Given the description of an element on the screen output the (x, y) to click on. 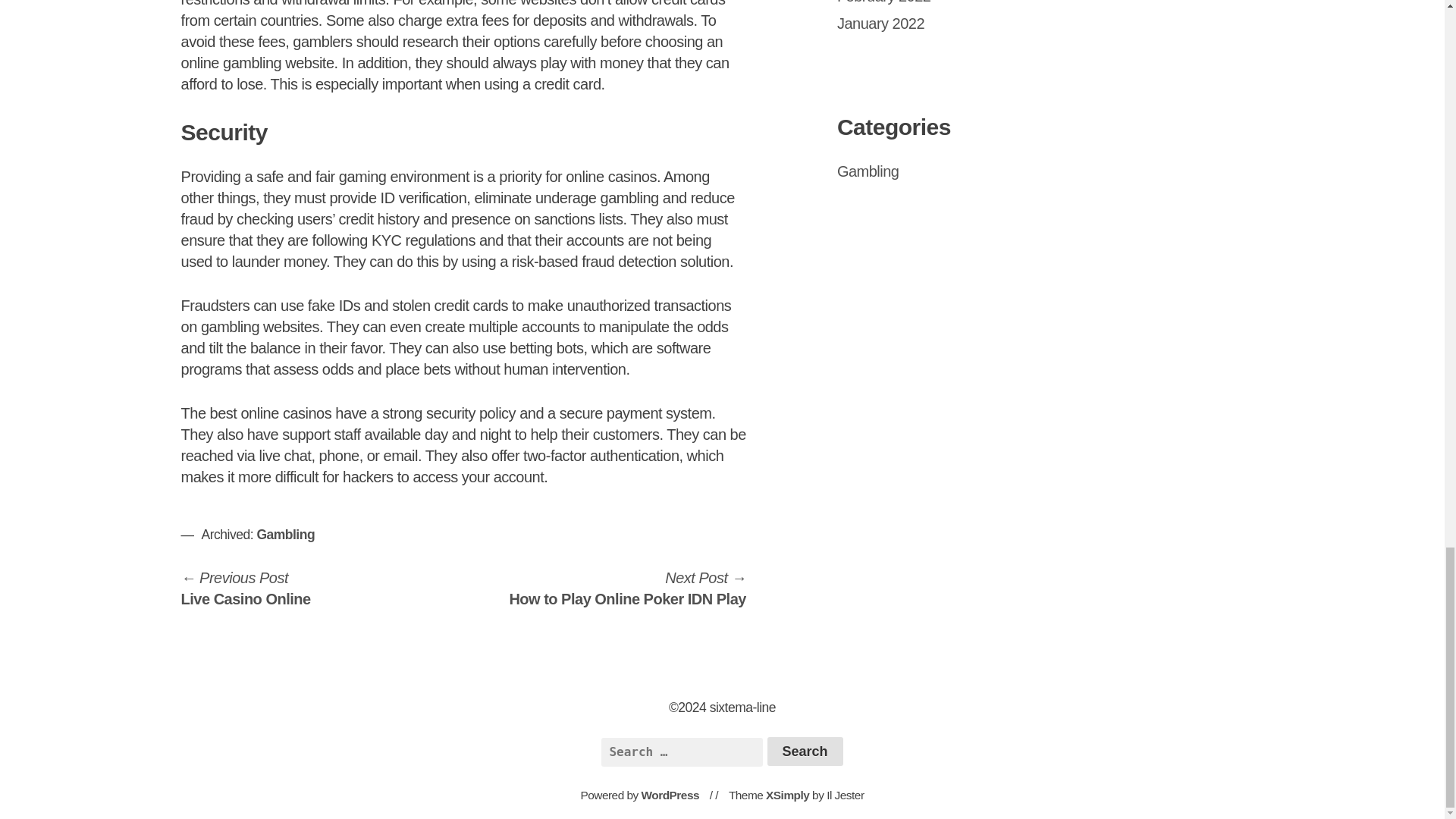
Search (805, 751)
Search (626, 588)
Gambling (805, 751)
